Given the description of an element on the screen output the (x, y) to click on. 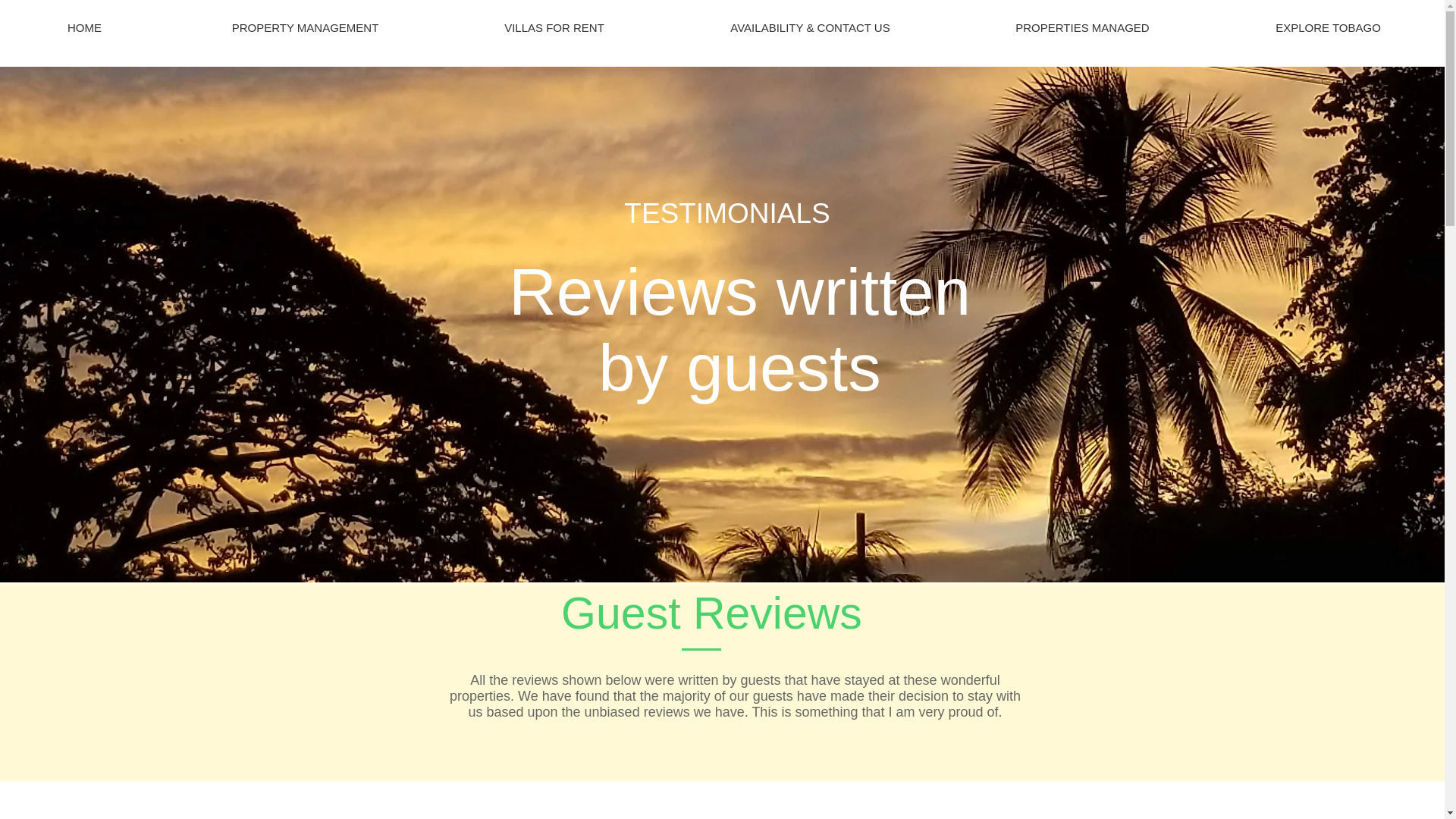
HOME (84, 27)
PROPERTIES MANAGED (1082, 27)
VILLAS FOR RENT (553, 27)
PROPERTY MANAGEMENT (304, 27)
